Given the description of an element on the screen output the (x, y) to click on. 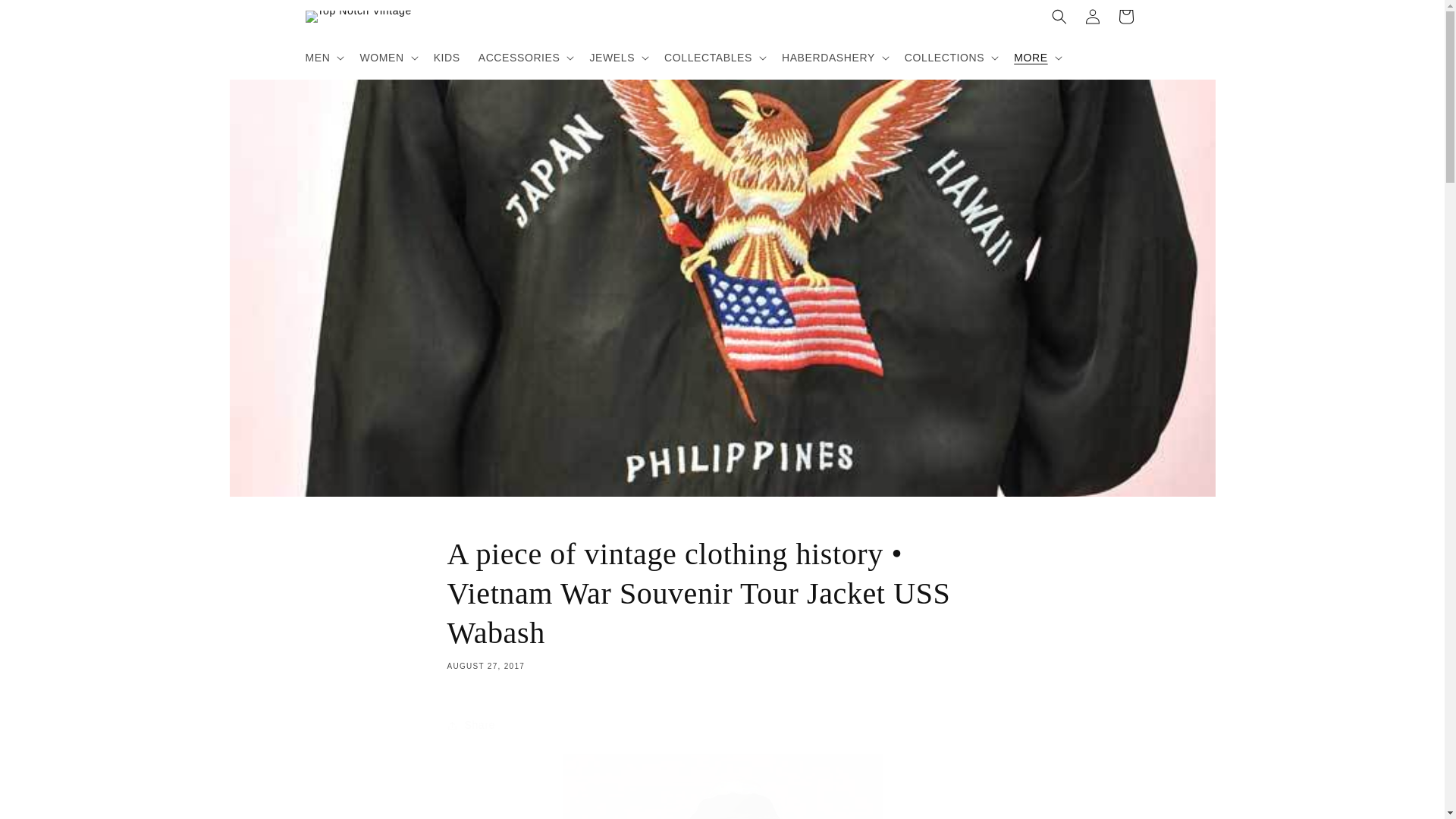
Share (721, 725)
Skip to content (45, 17)
